Given the description of an element on the screen output the (x, y) to click on. 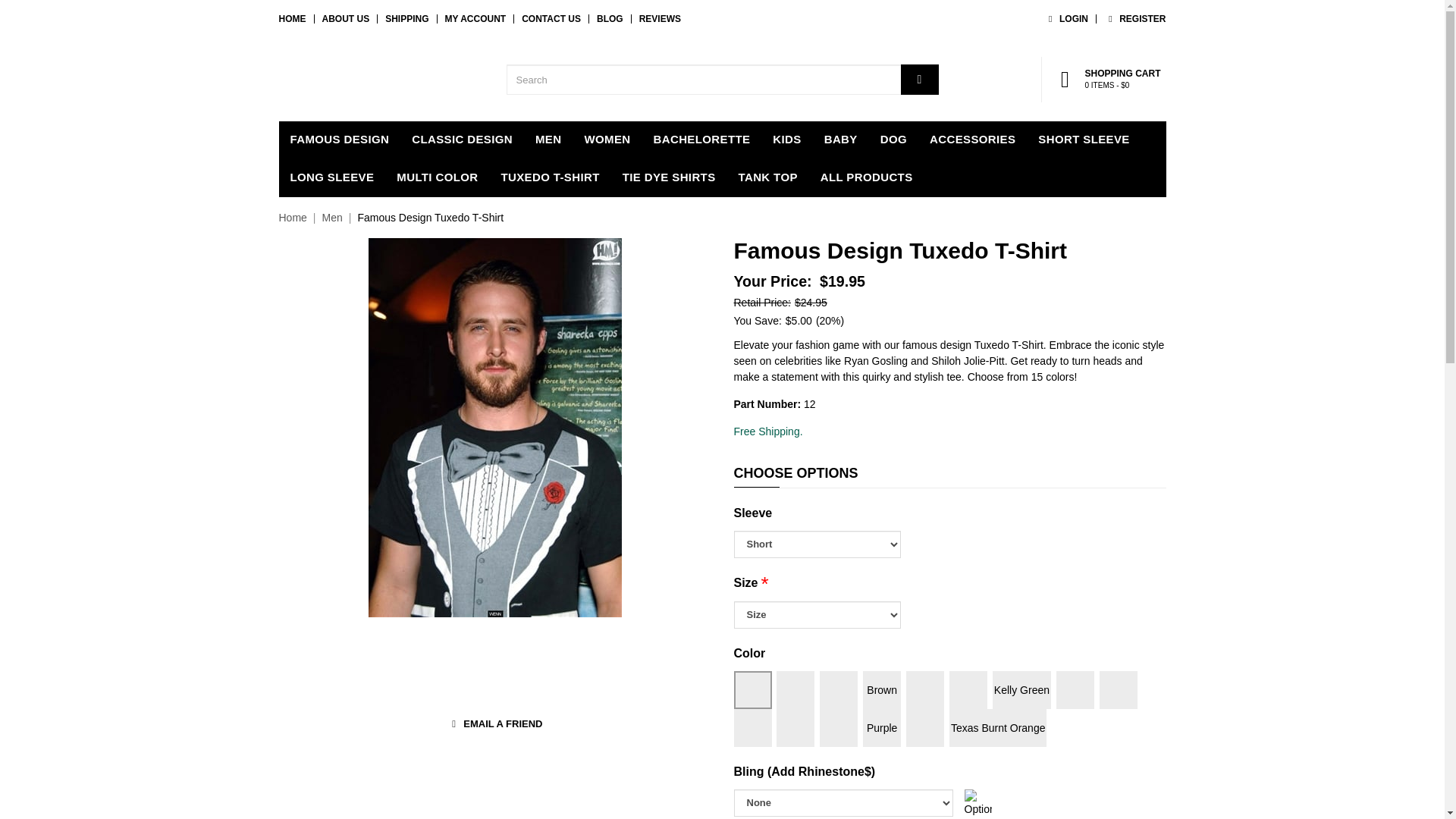
ABOUT US (345, 18)
Famous Design Tuxedo T-Shirt (429, 217)
DOG (893, 139)
MEN (548, 139)
ACCESSORIES (972, 139)
MULTI COLOR (437, 177)
REVIEWS (660, 18)
BACHELORETTE (701, 139)
LOGIN (1065, 18)
FAMOUS DESIGN (340, 139)
